Given the description of an element on the screen output the (x, y) to click on. 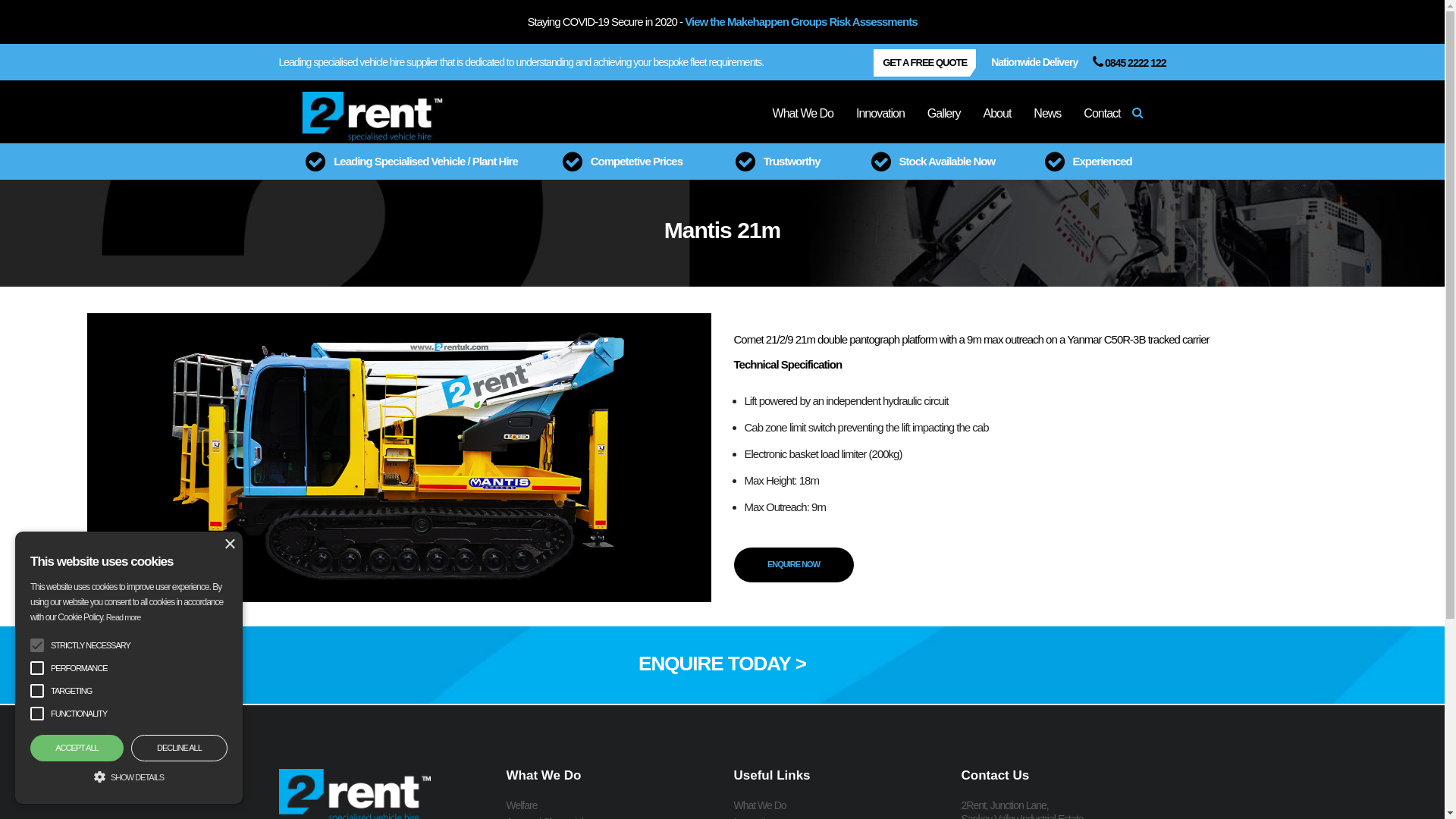
0845 2222 122 Element type: text (1128, 62)
Gallery Element type: text (944, 111)
ENQUIRE TODAY > Element type: text (722, 663)
ENQUIRE NOW Element type: text (793, 564)
Read more Element type: text (123, 616)
View the Makehappen Groups Risk Assessments Element type: text (800, 21)
About Element type: text (997, 111)
News Element type: text (1047, 111)
Welfare Element type: text (521, 805)
GET A FREE QUOTE Element type: text (924, 62)
What We Do Element type: text (760, 805)
Contact Element type: text (1101, 111)
Innovation Element type: text (880, 111)
What We Do Element type: text (802, 111)
